Given the description of an element on the screen output the (x, y) to click on. 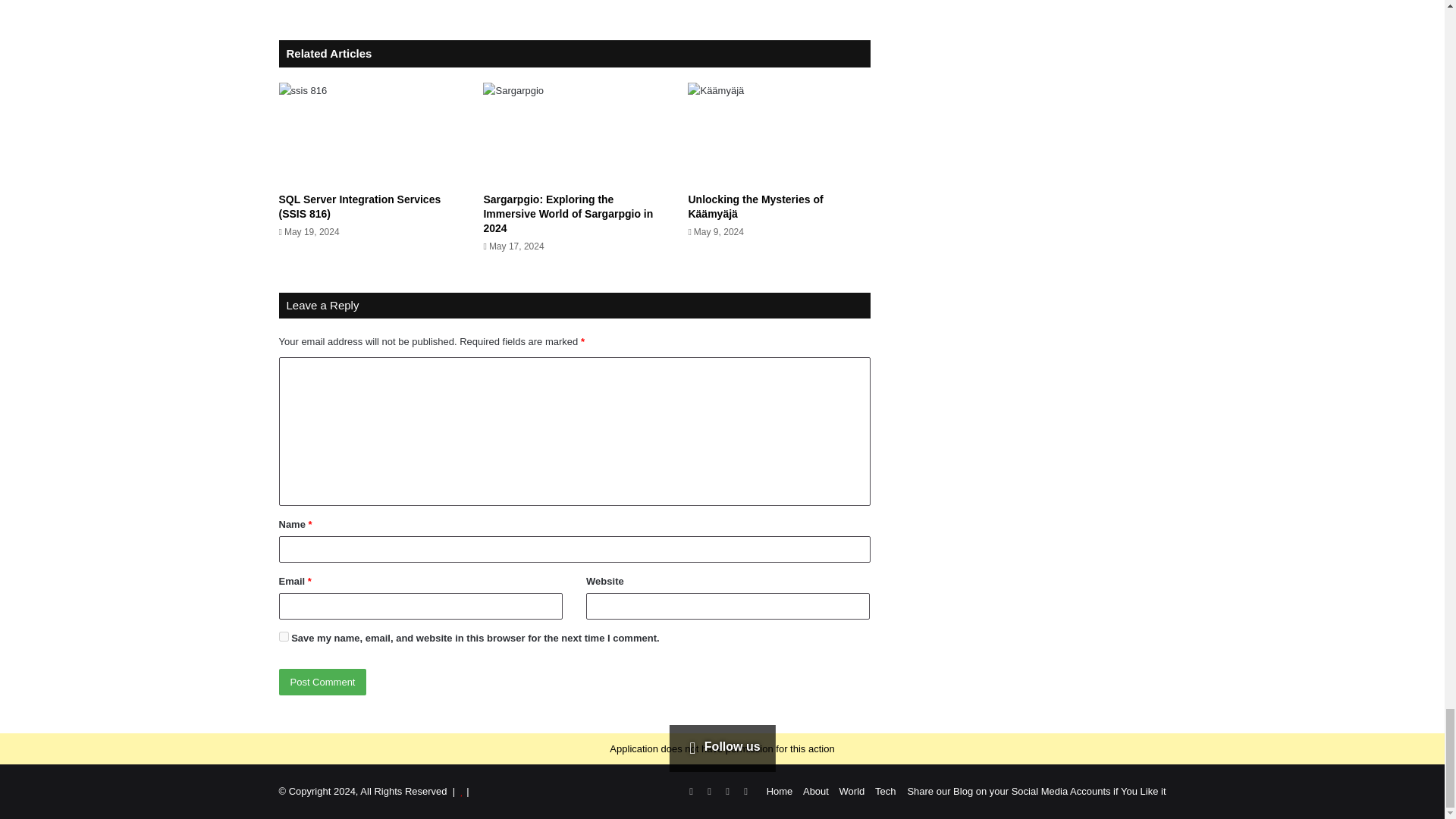
yes (283, 636)
Post Comment (322, 682)
